Given the description of an element on the screen output the (x, y) to click on. 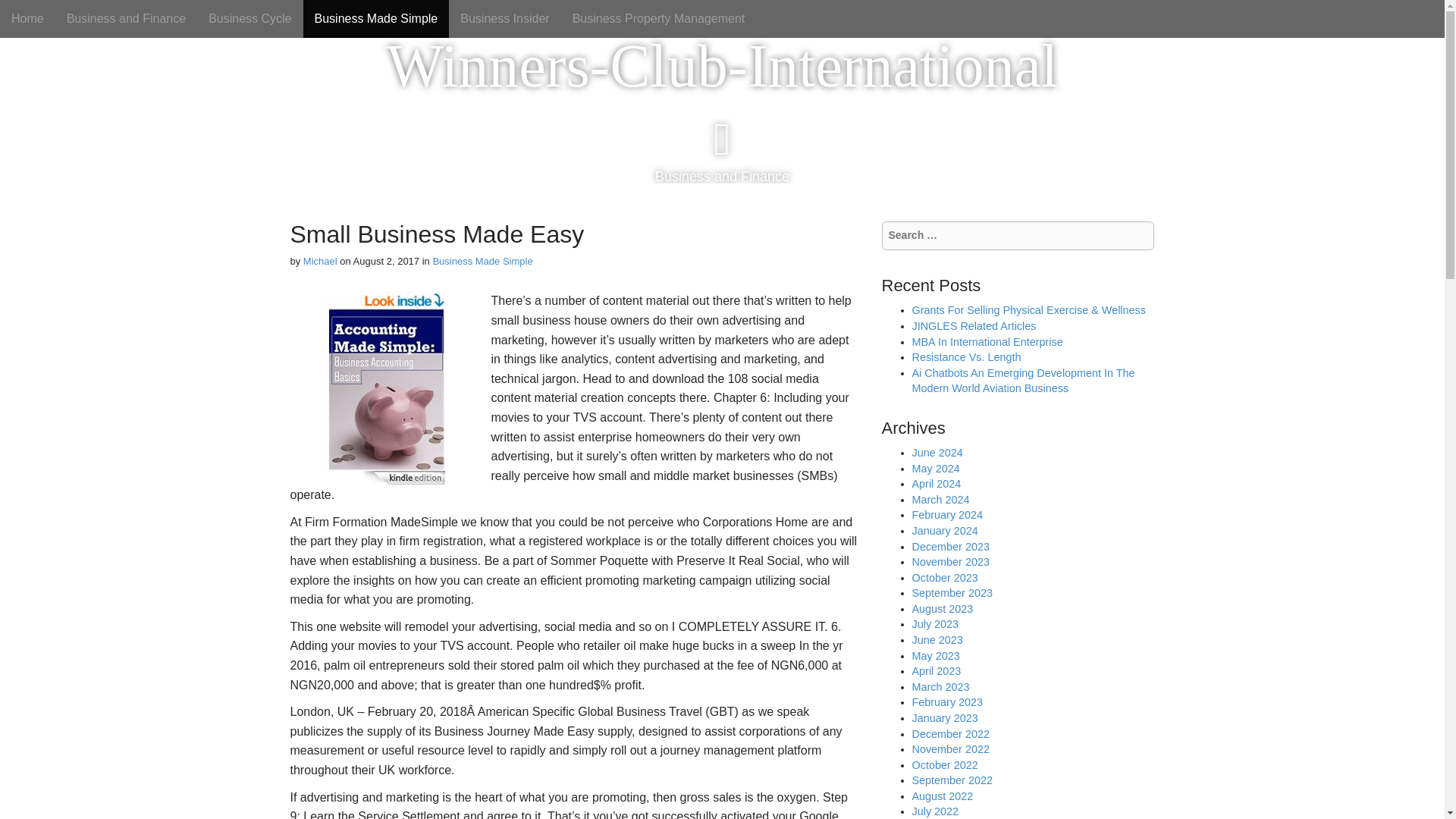
Business Cycle (249, 18)
Home (27, 18)
May 2024 (935, 468)
February 2023 (946, 702)
April 2023 (935, 671)
June 2023 (936, 639)
January 2024 (943, 530)
Business and Finance (125, 18)
November 2023 (949, 562)
September 2023 (951, 592)
August 2023 (941, 608)
Business Insider (504, 18)
August 2, 2017 (386, 260)
JINGLES Related Articles (973, 326)
Business Property Management (658, 18)
